Given the description of an element on the screen output the (x, y) to click on. 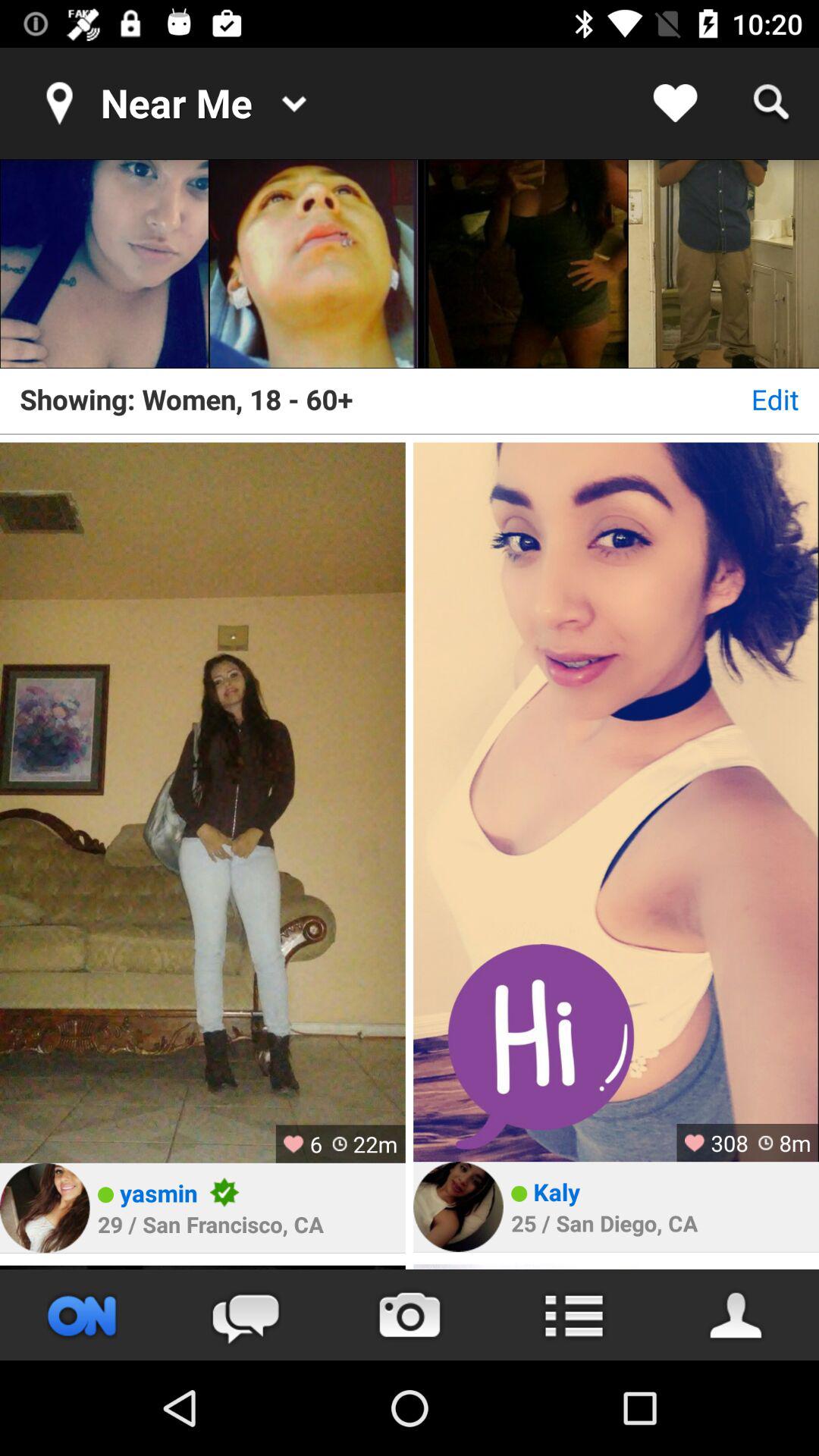
click image to show profile (313, 263)
